Given the description of an element on the screen output the (x, y) to click on. 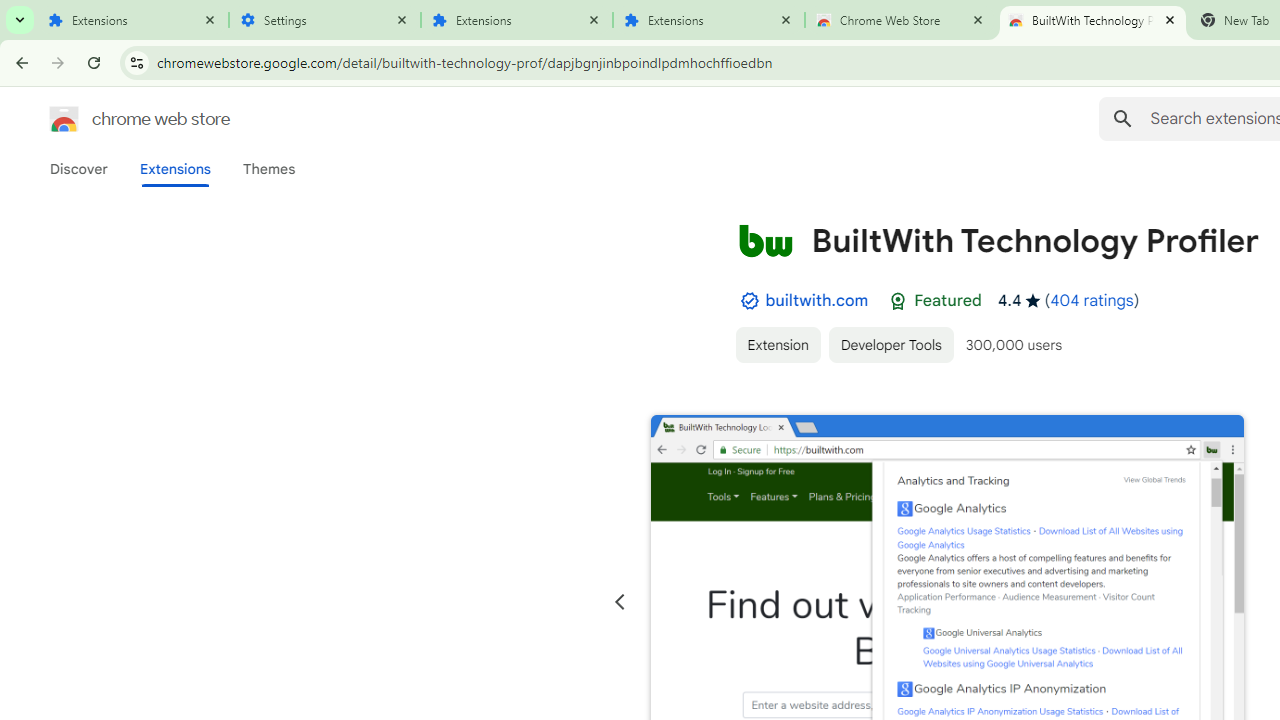
Chrome Web Store (901, 20)
Extension (777, 344)
Chrome Web Store logo chrome web store (118, 118)
Extensions (517, 20)
Developer Tools (890, 344)
builtwith.com (817, 300)
Extensions (133, 20)
Extensions (709, 20)
BuiltWith Technology Profiler - Chrome Web Store (1093, 20)
404 ratings (1091, 300)
